Given the description of an element on the screen output the (x, y) to click on. 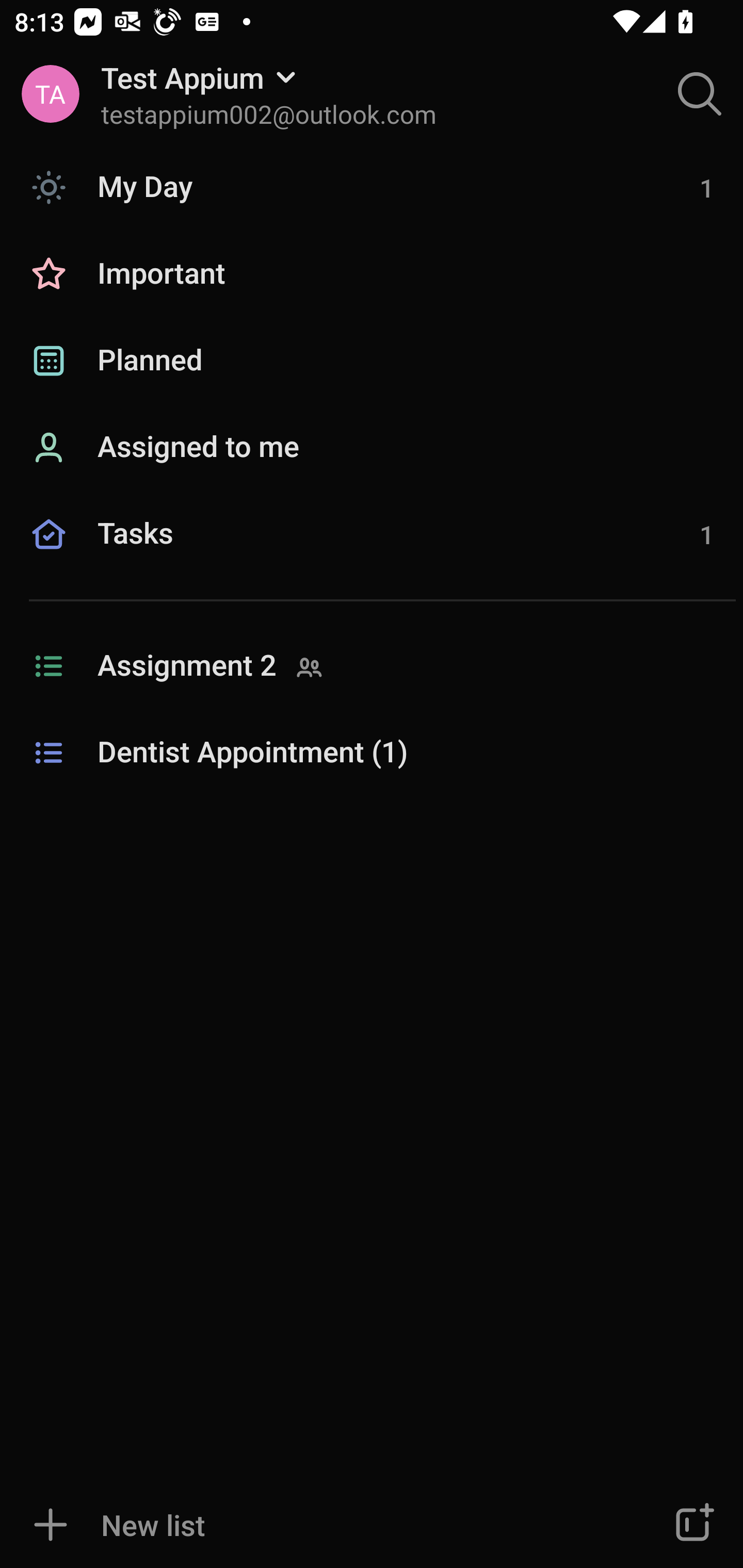
Enter search (699, 93)
My Day, 1 tasks My Day 1 (371, 187)
Important, 0 tasks Important (371, 274)
Planned, 0 tasks Planned (371, 361)
Assigned to me, 0 tasks Assigned to me (371, 447)
Tasks, 1 tasks Tasks 1 (371, 556)
Shared list. Assignment 2 Assignment 2 Shared list (371, 666)
Dentist Appointment (1) (371, 753)
New list (312, 1524)
Create group (692, 1524)
